Given the description of an element on the screen output the (x, y) to click on. 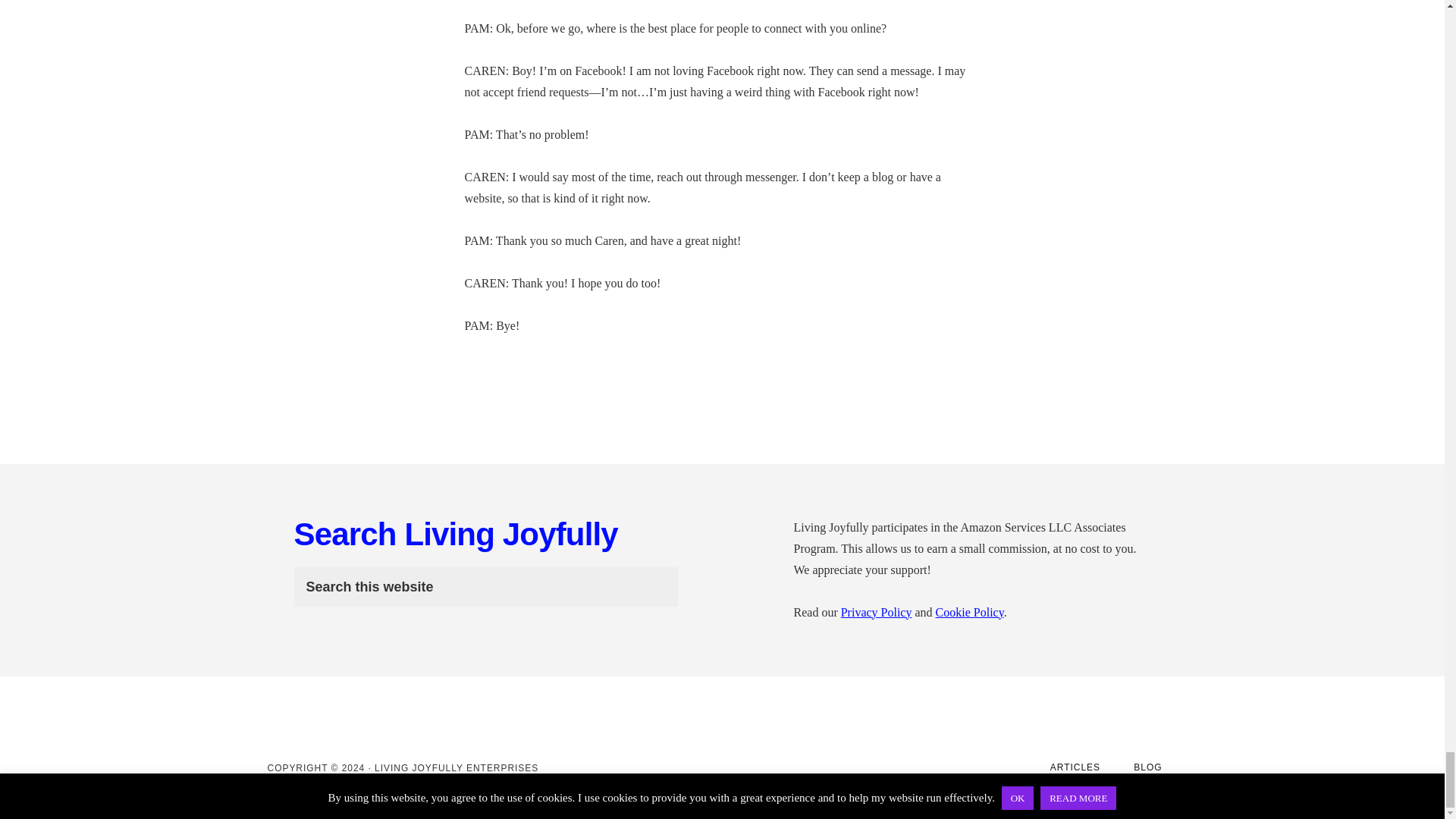
Cookie Policy (970, 612)
Privacy Policy (876, 612)
ARTICLES (1075, 767)
BLOG (1147, 767)
